Given the description of an element on the screen output the (x, y) to click on. 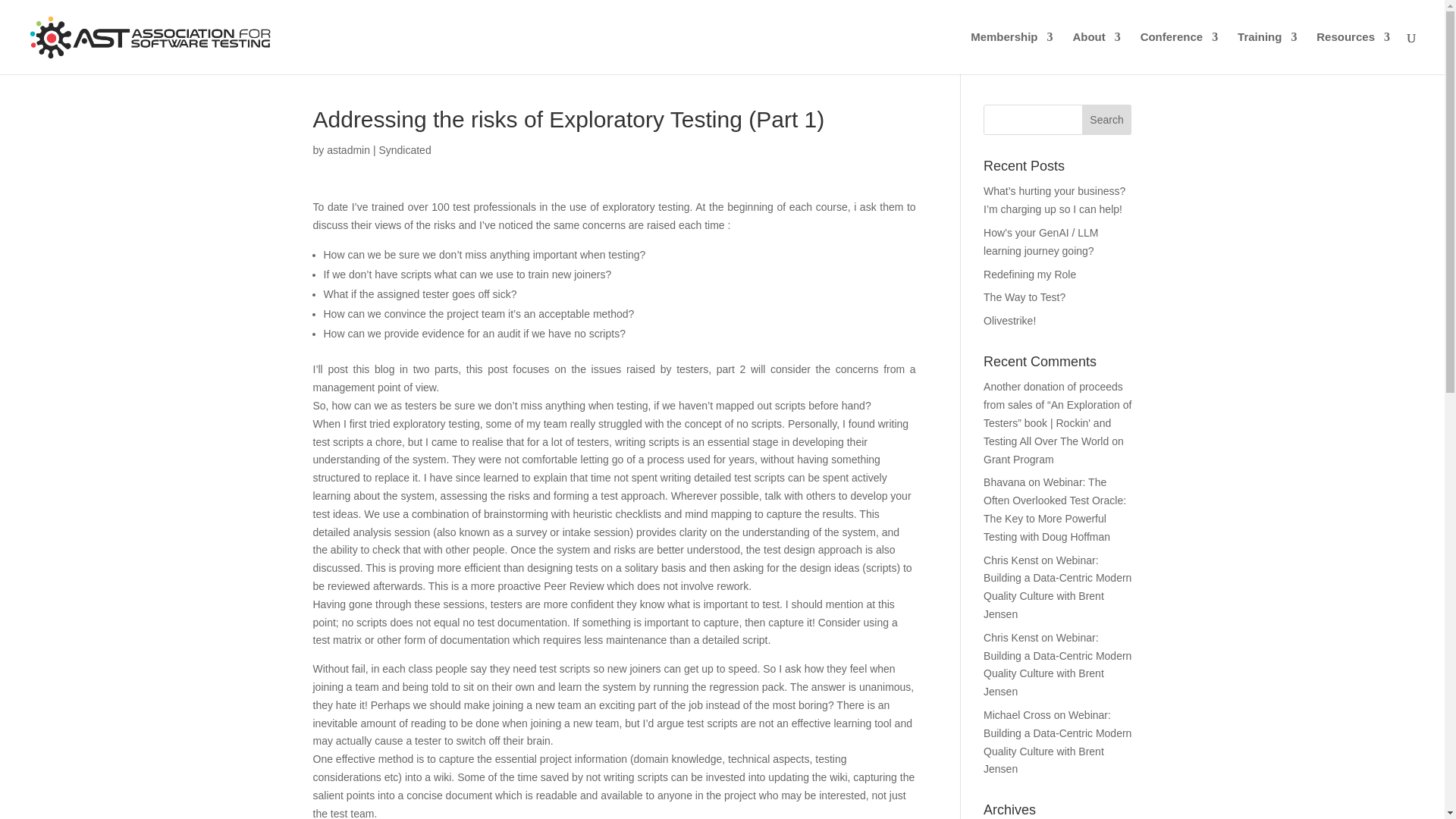
Membership (1011, 52)
Posts by astadmin (347, 150)
About (1095, 52)
Search (1106, 119)
Conference (1179, 52)
Training (1267, 52)
